Given the description of an element on the screen output the (x, y) to click on. 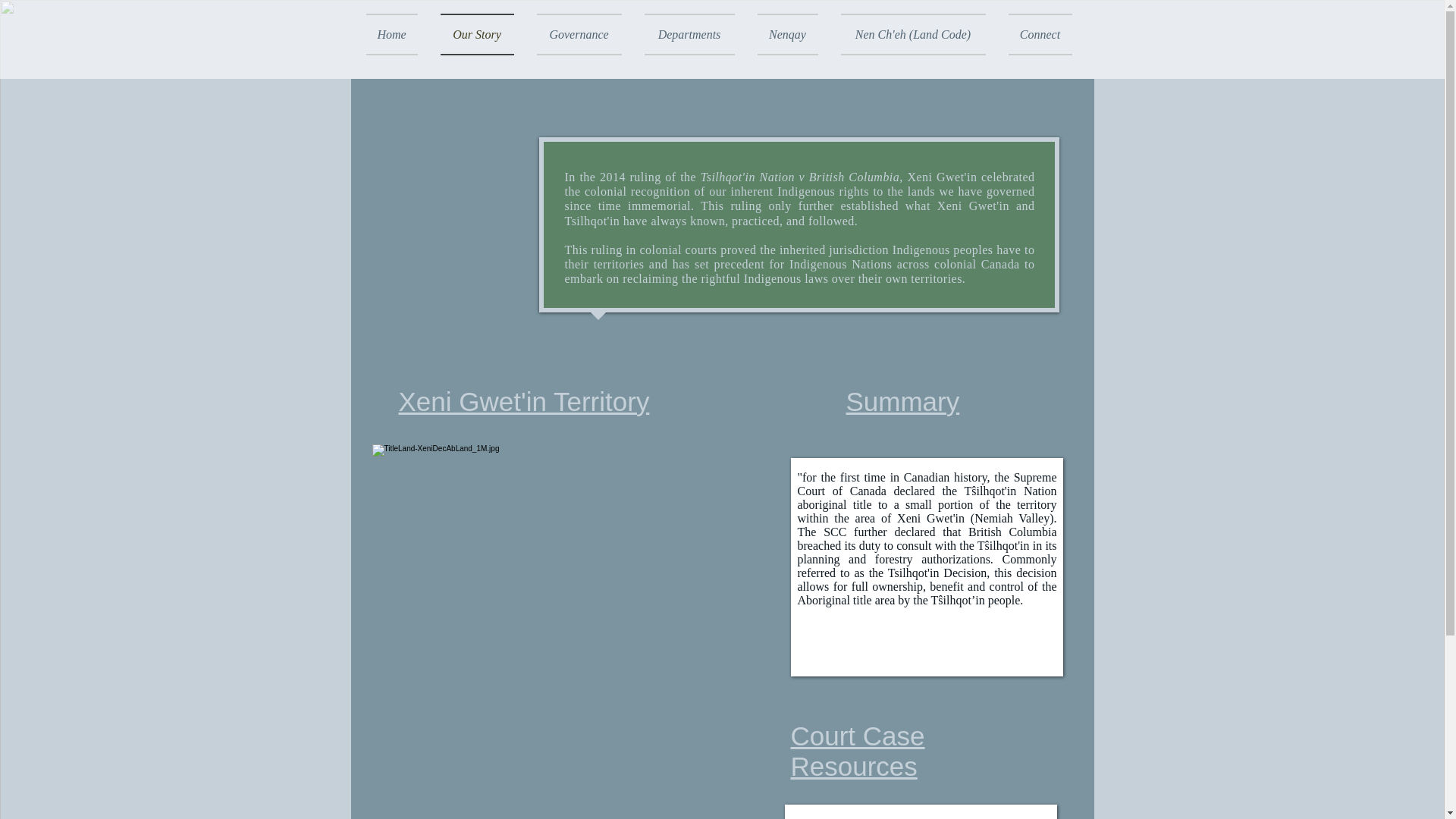
Our Story (477, 34)
Governance (577, 34)
Departments (688, 34)
Home (396, 34)
Connect (1033, 34)
Nenqay (787, 34)
